Given the description of an element on the screen output the (x, y) to click on. 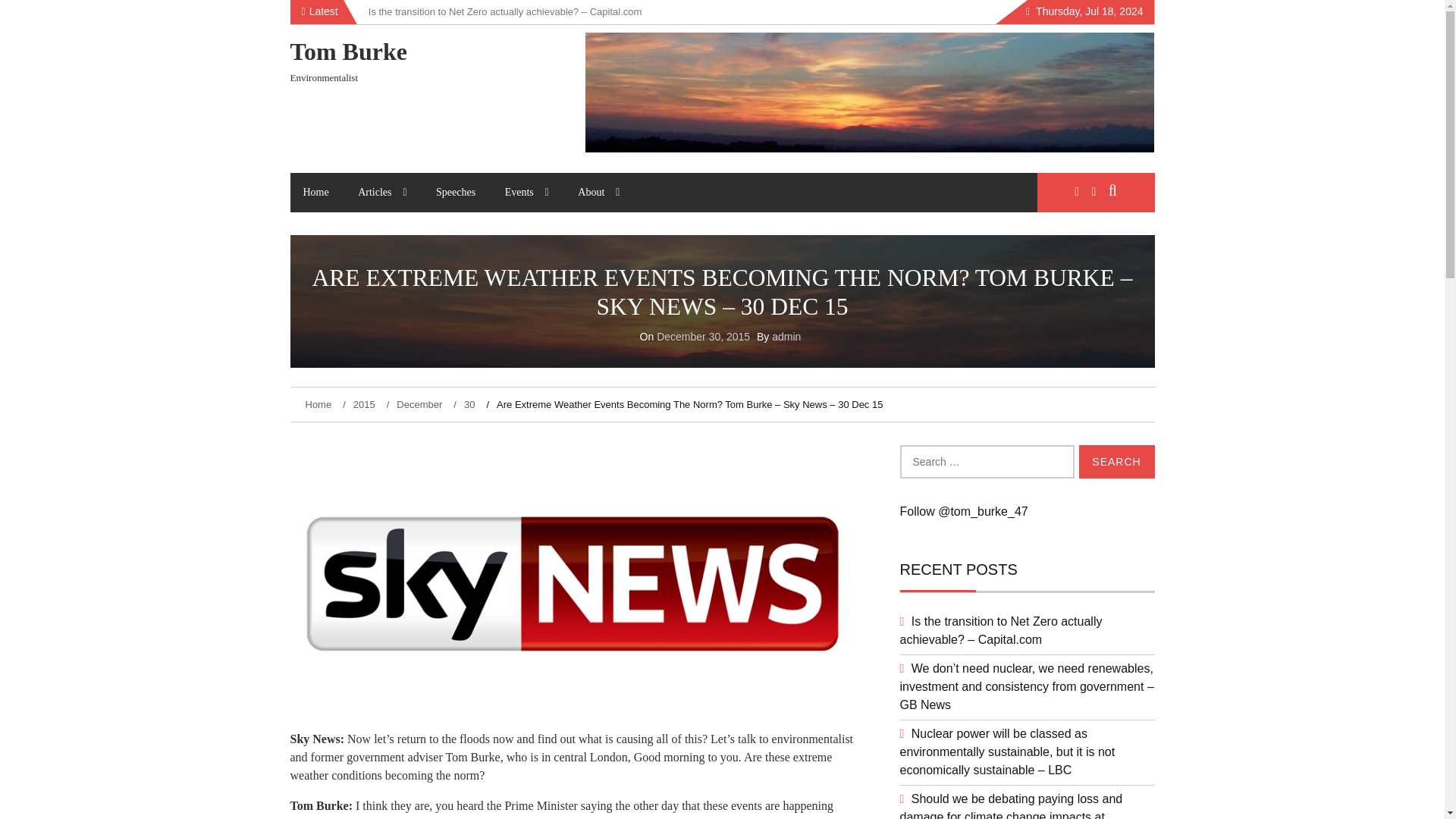
About (597, 192)
Search (1116, 461)
Search (1116, 461)
Speeches (455, 192)
Tom Burke (347, 51)
Home (314, 192)
Articles (382, 192)
Events (527, 192)
